Given the description of an element on the screen output the (x, y) to click on. 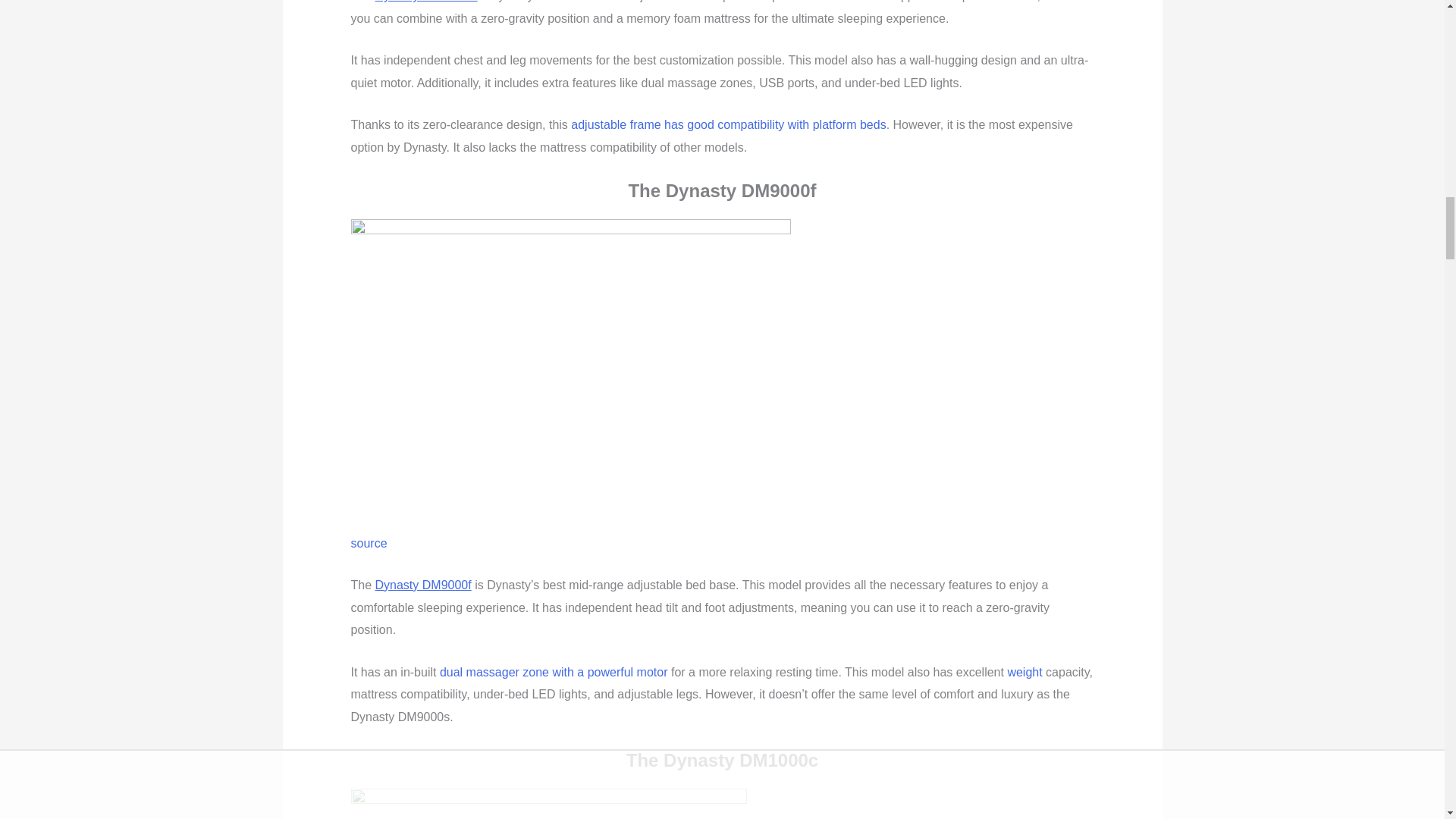
Dynasty DM1000C (547, 803)
Dynasty DM9000f (570, 365)
